Given the description of an element on the screen output the (x, y) to click on. 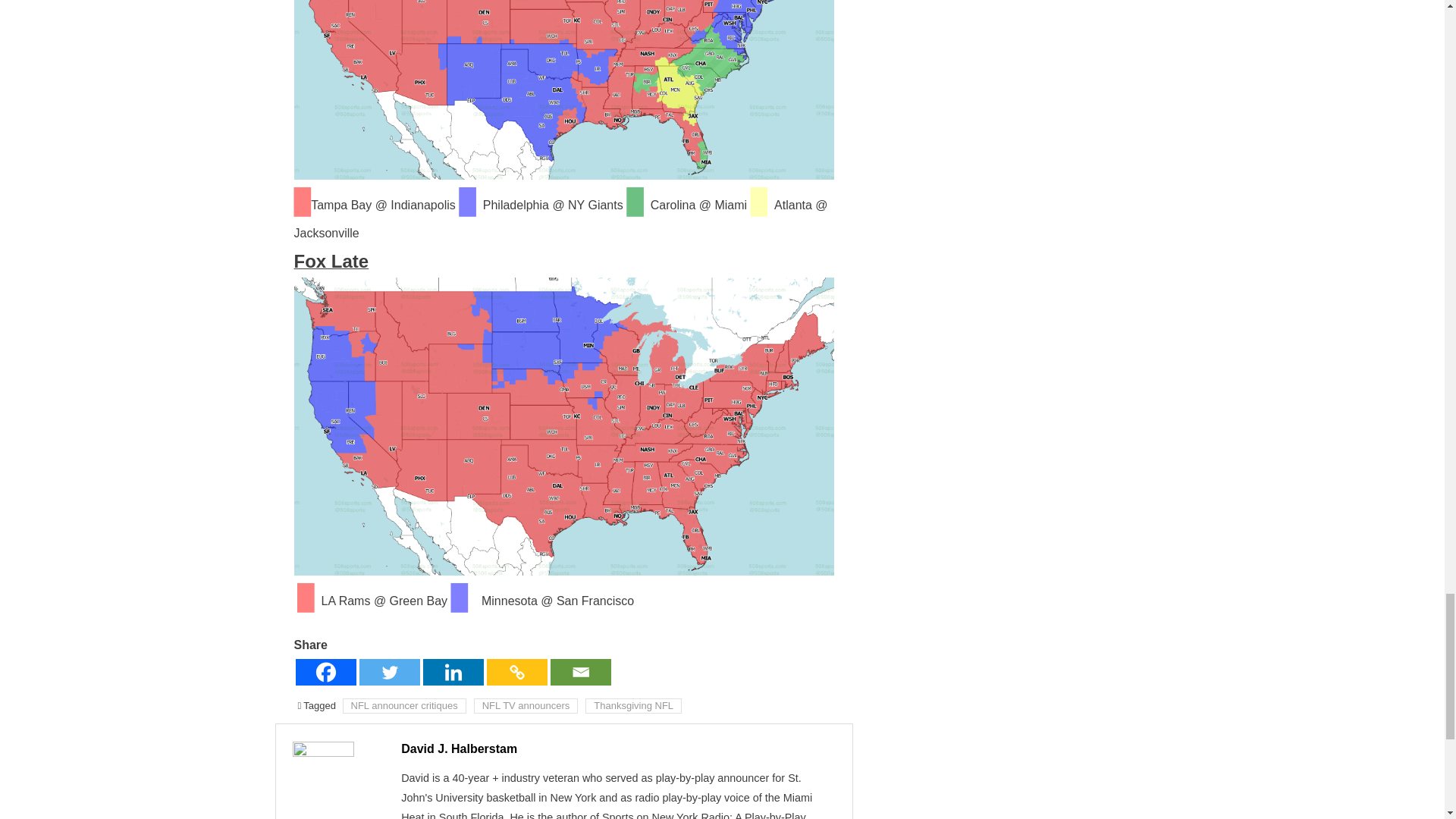
Email (580, 672)
Linkedin (453, 672)
NFL TV announcers (526, 705)
Twitter (389, 672)
Facebook (325, 672)
David J. Halberstam (458, 748)
Copy Link (516, 672)
Thanksgiving NFL (633, 705)
NFL announcer critiques (403, 705)
